Given the description of an element on the screen output the (x, y) to click on. 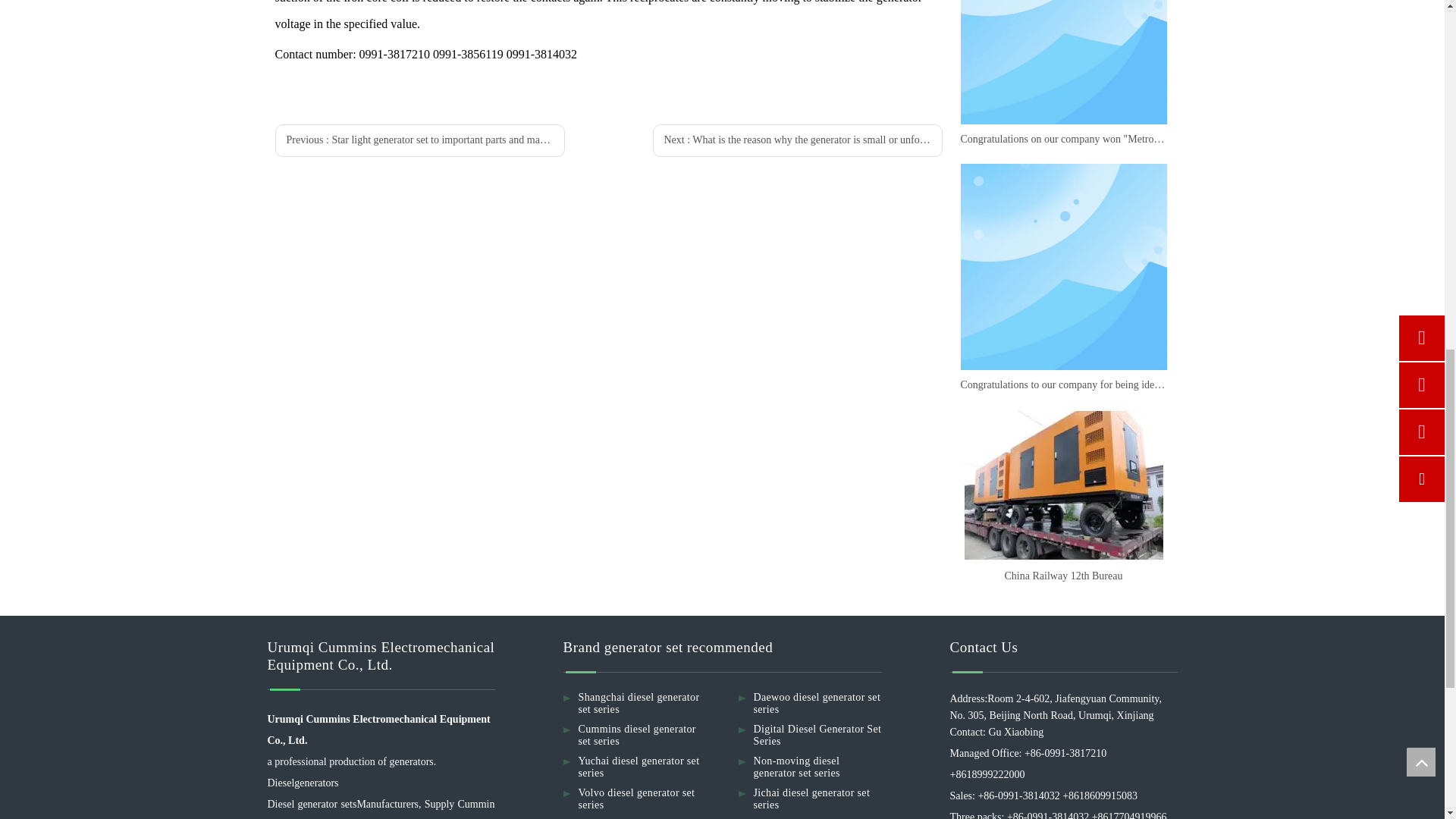
Shangchai diesel generator set series (638, 702)
China Railway 12th Bureau (1062, 485)
Cummins diesel generator set series (636, 734)
China Railway 12th Bureau (1062, 576)
Yuchai diesel generator set series (638, 766)
Volvo diesel generator set series (636, 798)
